Given the description of an element on the screen output the (x, y) to click on. 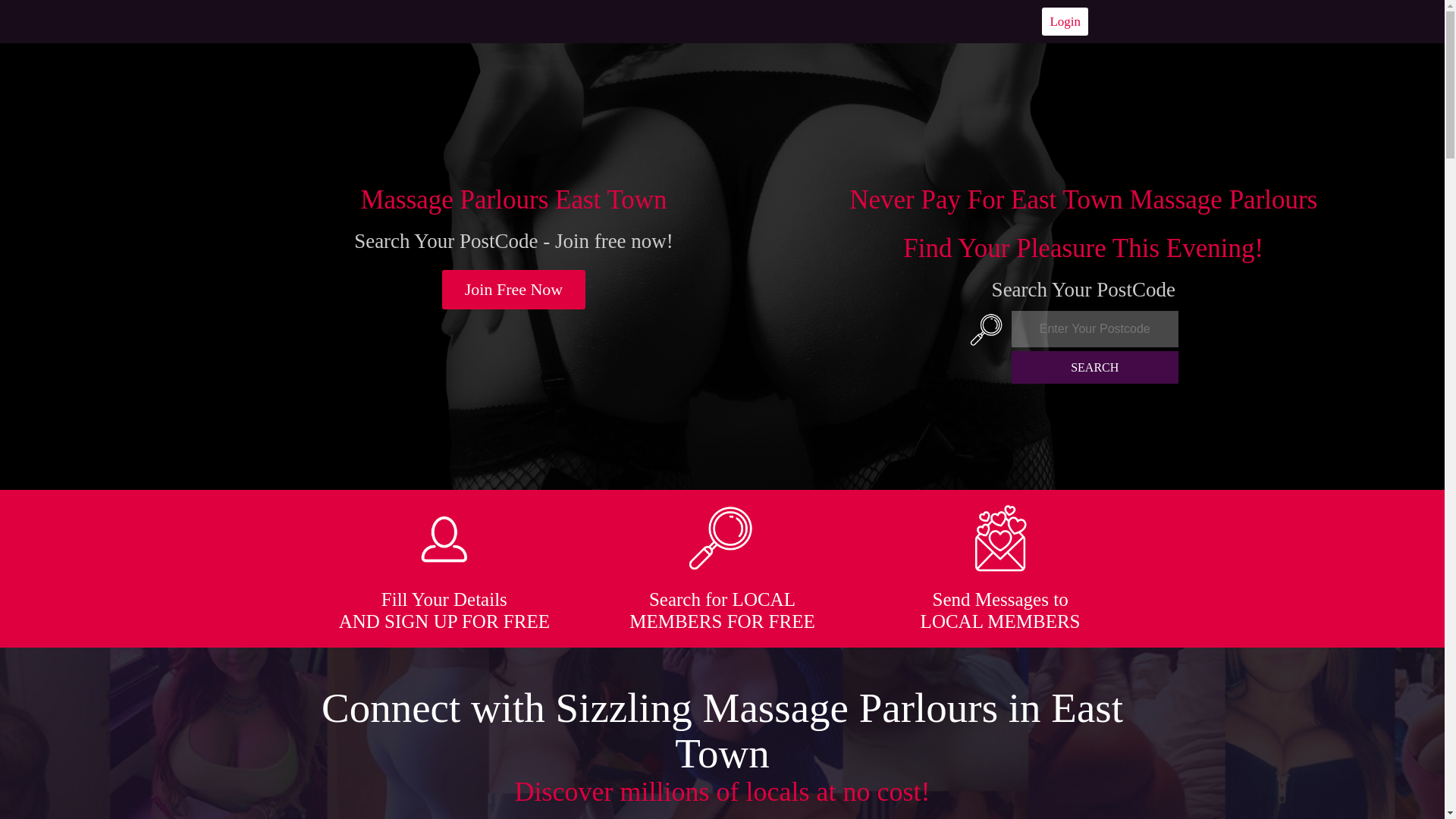
Login (1064, 21)
Join Free Now (514, 289)
Login (1064, 21)
SEARCH (1094, 367)
Join (514, 289)
